Given the description of an element on the screen output the (x, y) to click on. 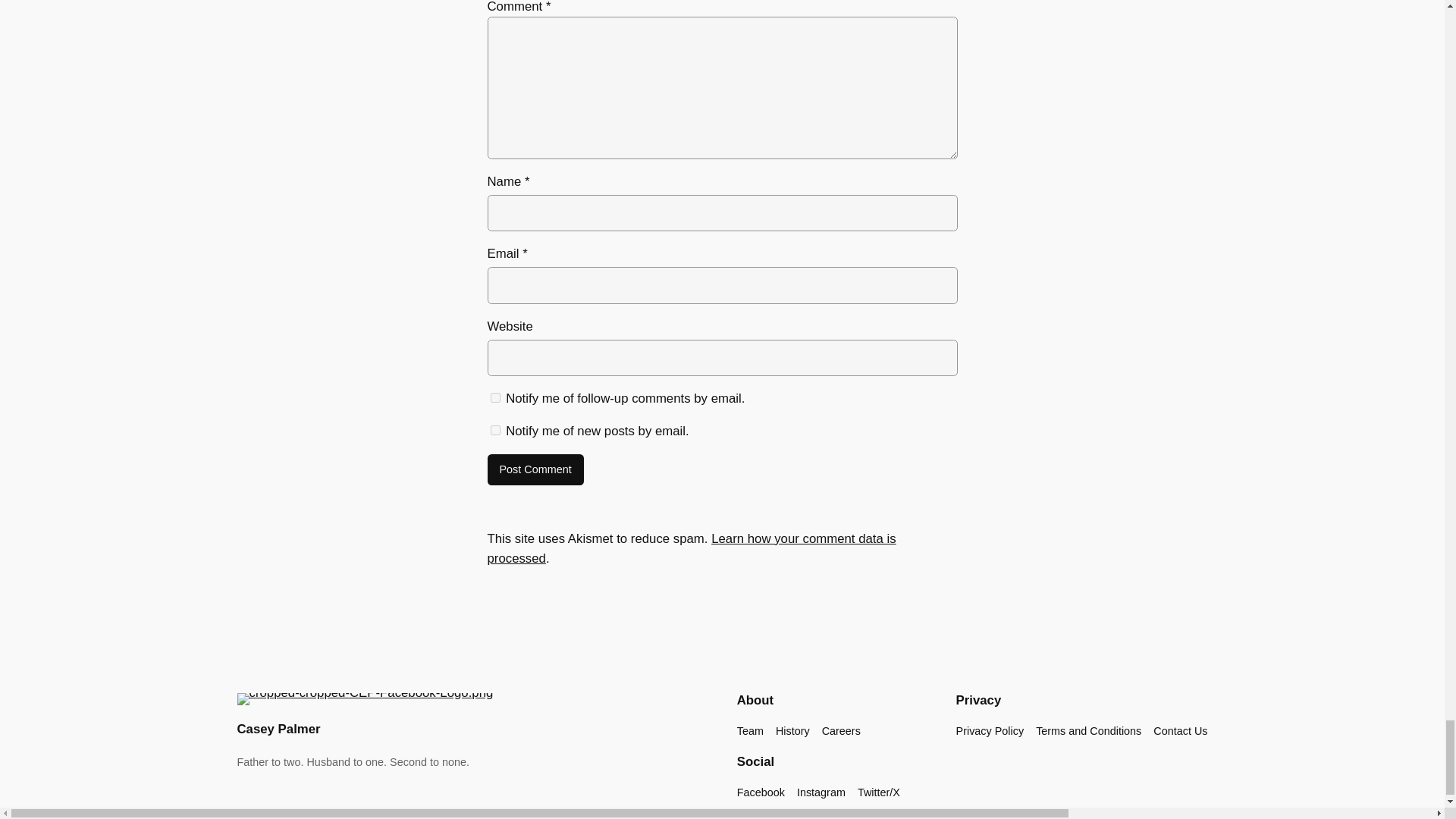
subscribe (494, 397)
Post Comment (534, 470)
subscribe (494, 429)
